Given the description of an element on the screen output the (x, y) to click on. 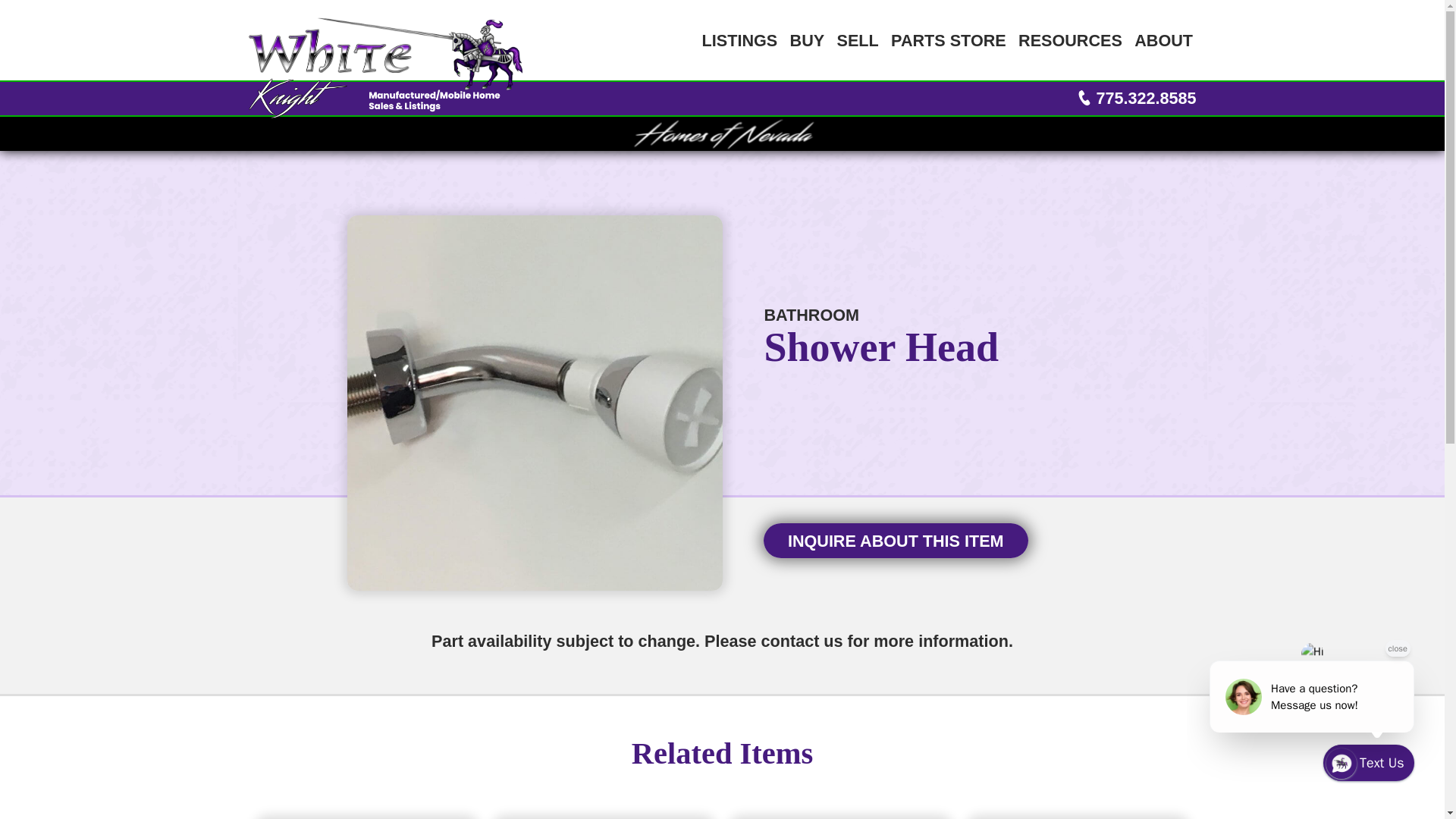
LISTINGS (739, 40)
